Given the description of an element on the screen output the (x, y) to click on. 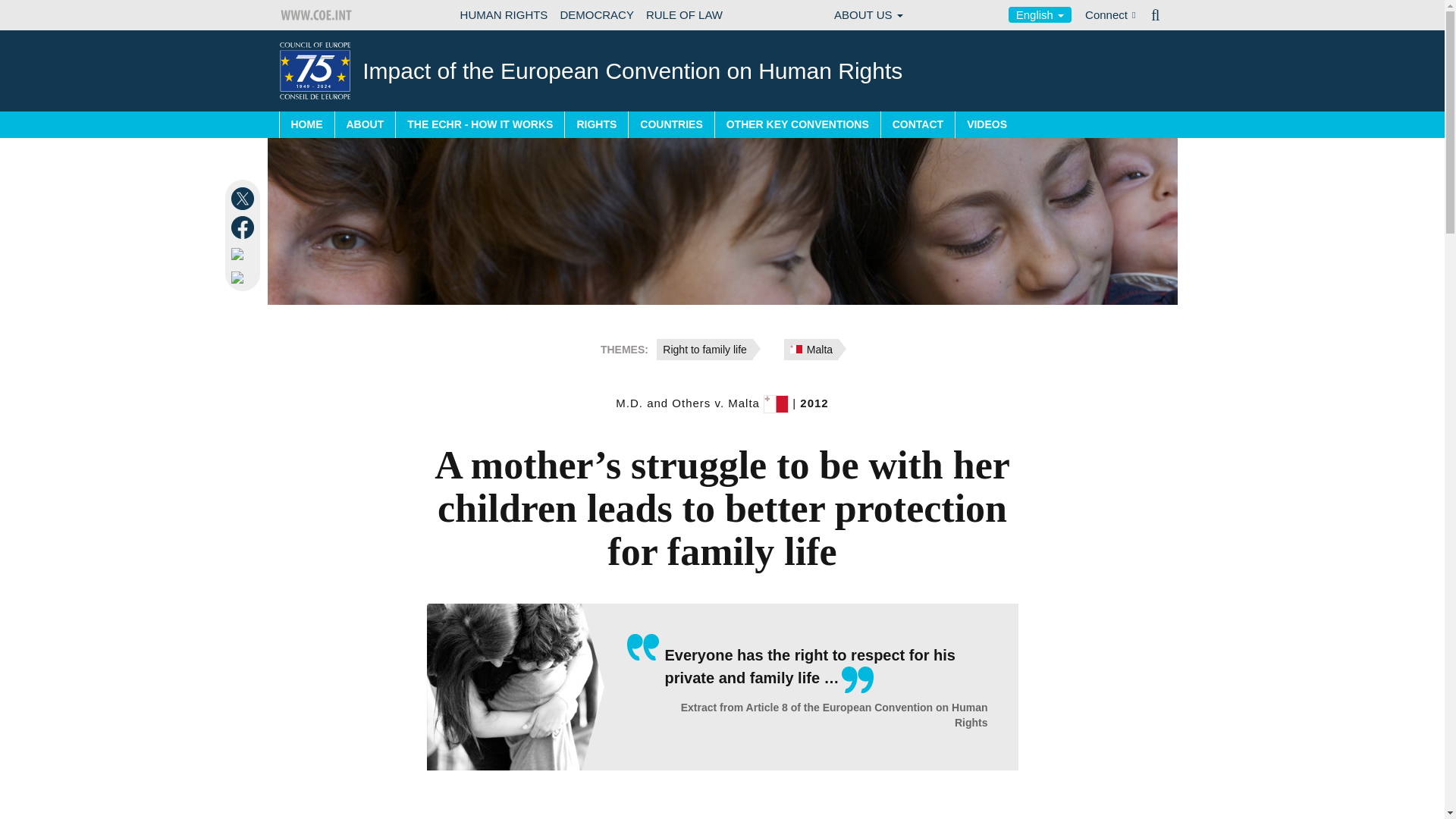
RULE OF LAW (684, 15)
Share on Linkedin (244, 253)
WWW.COE.INT (317, 15)
HUMAN RIGHTS (504, 15)
ABOUT US (868, 15)
Send this page (244, 276)
Share on Facebook (244, 227)
English (1040, 14)
DEMOCRACY (596, 15)
